Given the description of an element on the screen output the (x, y) to click on. 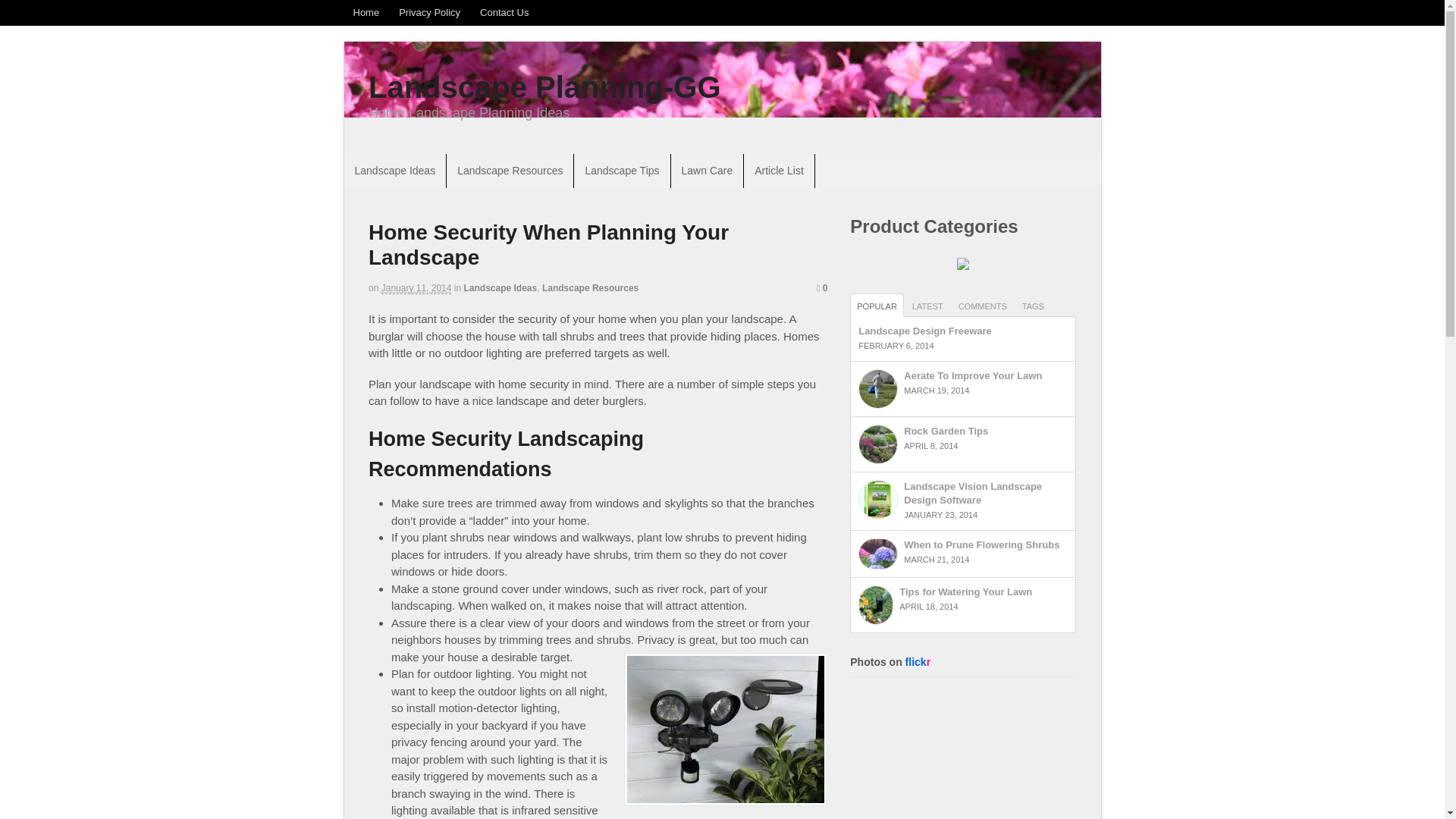
Landscape Design Freeware (925, 330)
LATEST (927, 304)
COMMENTS (982, 304)
Landscape Ideas (500, 287)
Lawn Care (707, 170)
Article List (778, 170)
Landscape Vision Landscape Design Software (973, 493)
Rock Garden Tips (946, 430)
Landscape Design Freeware (925, 330)
Contact Us (504, 12)
Home (365, 12)
View all items in Landscape Resources (590, 287)
0 (821, 287)
2014-01-11T07:06:04-0500 (416, 288)
Landscape Ideas (394, 170)
